Given the description of an element on the screen output the (x, y) to click on. 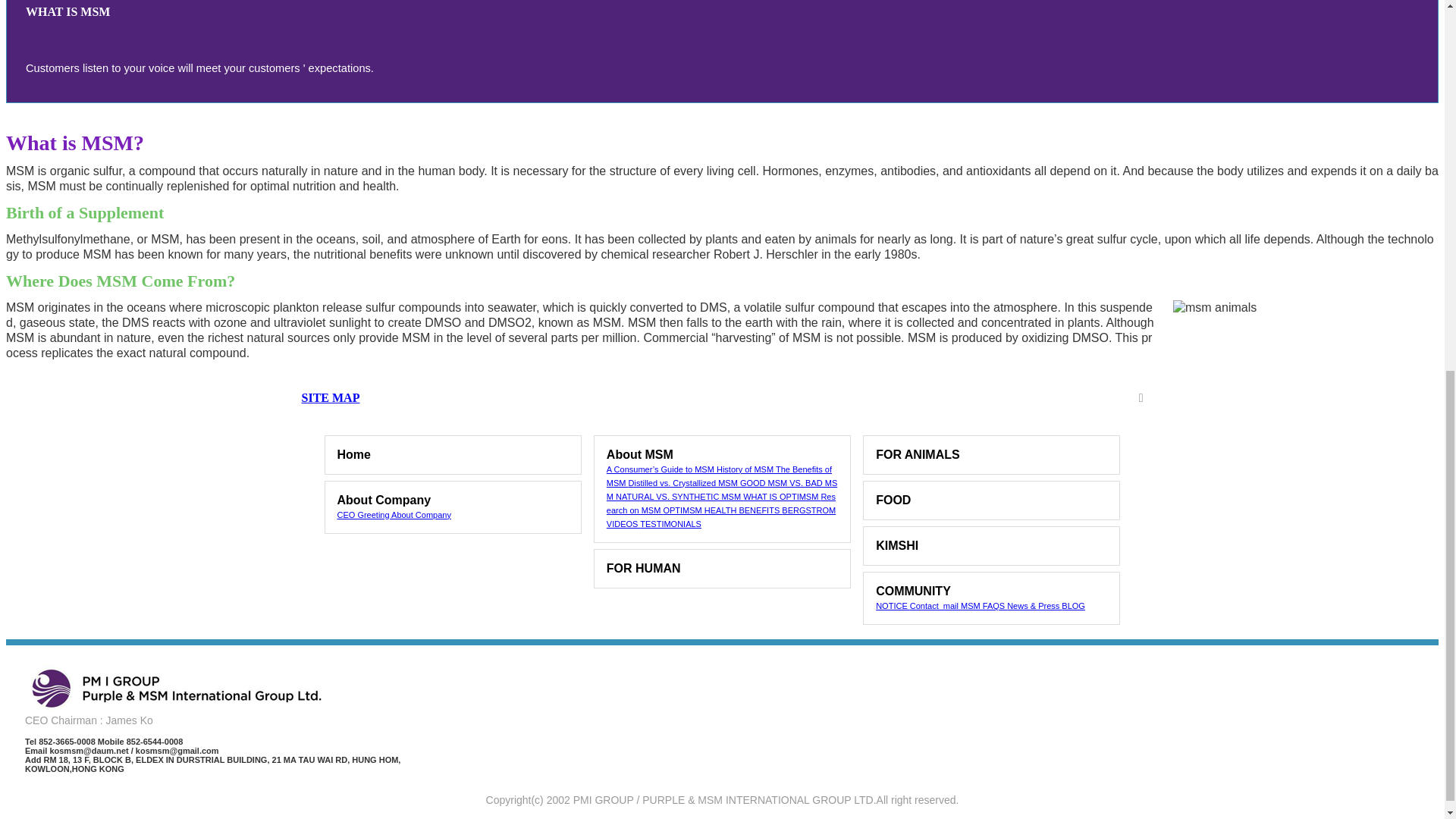
About Company (421, 514)
Home (451, 454)
SITE MAP (721, 397)
CEO Greeting (363, 514)
About Company (451, 499)
About MSM (722, 454)
